Given the description of an element on the screen output the (x, y) to click on. 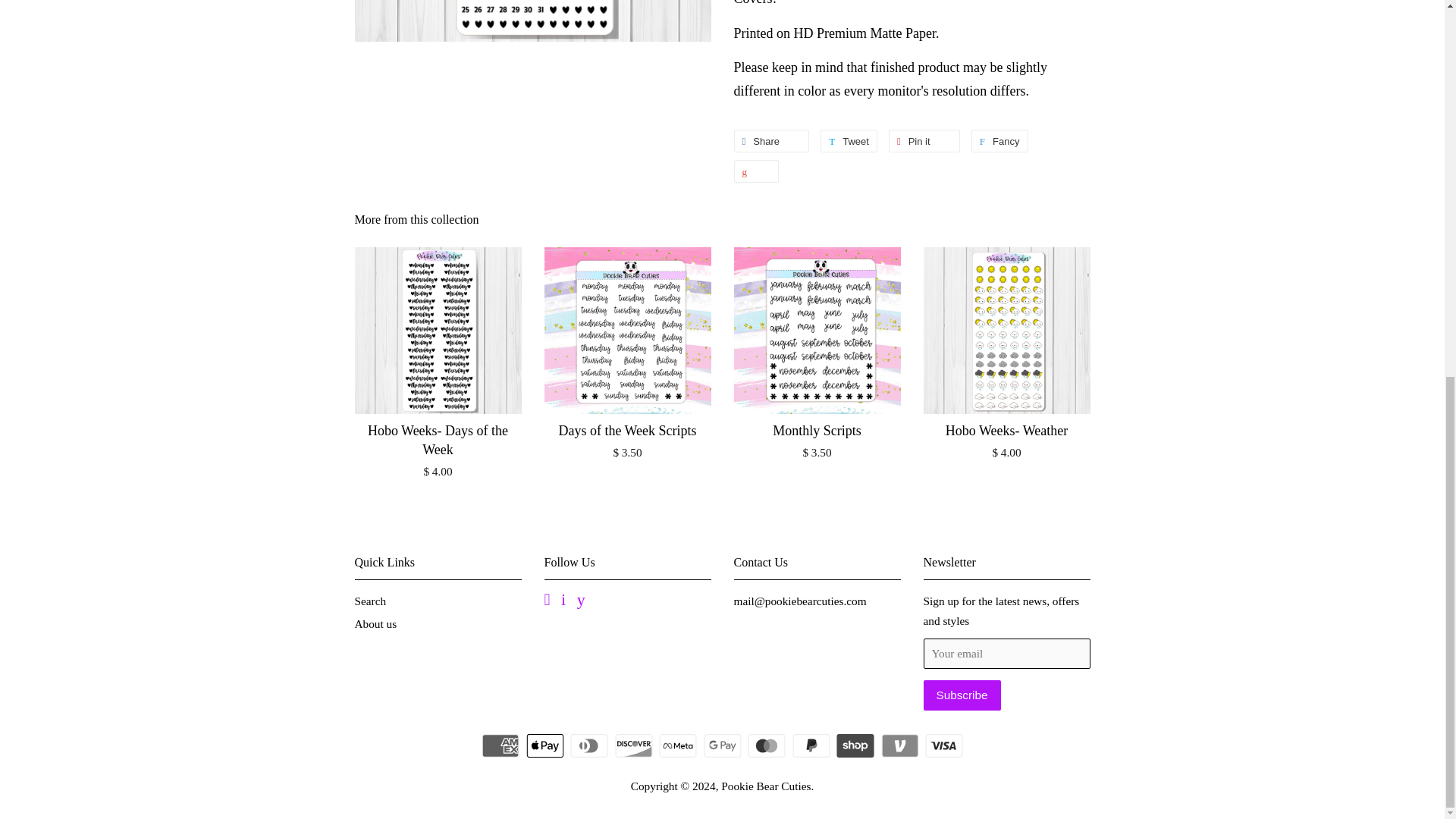
Subscribe (962, 695)
Share (771, 140)
Pin it (923, 140)
About us (376, 623)
Tweet (849, 140)
Fancy (999, 140)
Search (371, 600)
Subscribe (962, 695)
